Given the description of an element on the screen output the (x, y) to click on. 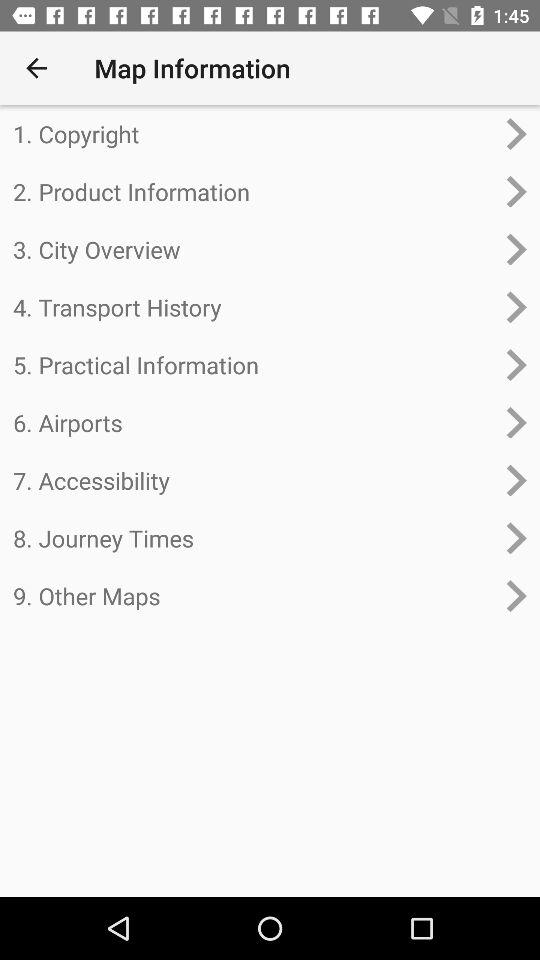
choose item above the 2. product information item (253, 134)
